Given the description of an element on the screen output the (x, y) to click on. 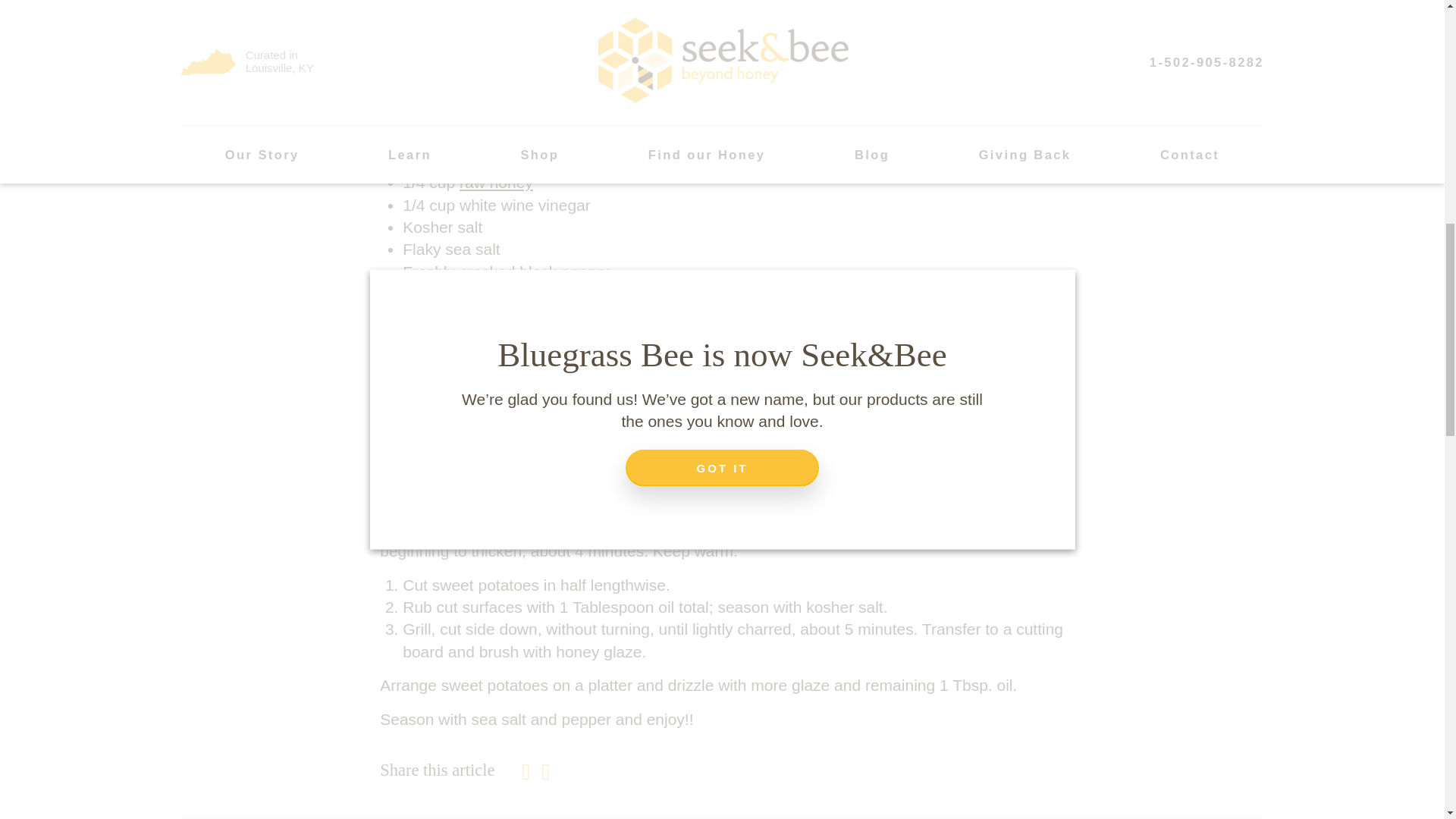
raw honey (496, 181)
